Given the description of an element on the screen output the (x, y) to click on. 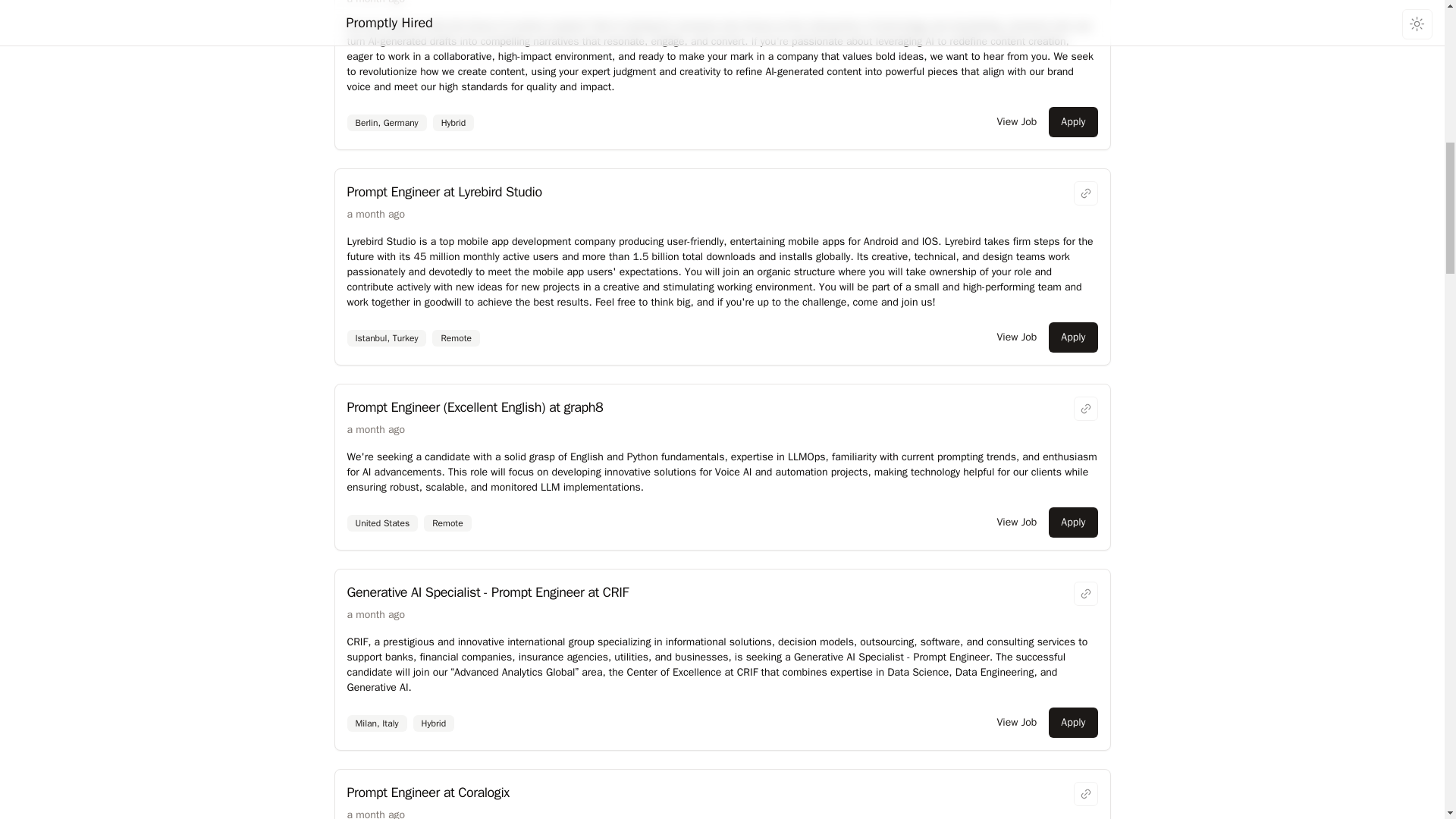
Posted on June 28, 2024 (376, 813)
View Job (1016, 122)
Copy (1085, 408)
Copy (1085, 192)
Hybrid (453, 122)
View Job (1016, 337)
View Job (1016, 521)
Apply (1072, 722)
Posted on June 29, 2024 (376, 429)
View Job (1016, 722)
Remote (447, 523)
Hybrid (433, 723)
Posted on June 30, 2024 (376, 214)
Apply (1072, 122)
Apply (1072, 521)
